Given the description of an element on the screen output the (x, y) to click on. 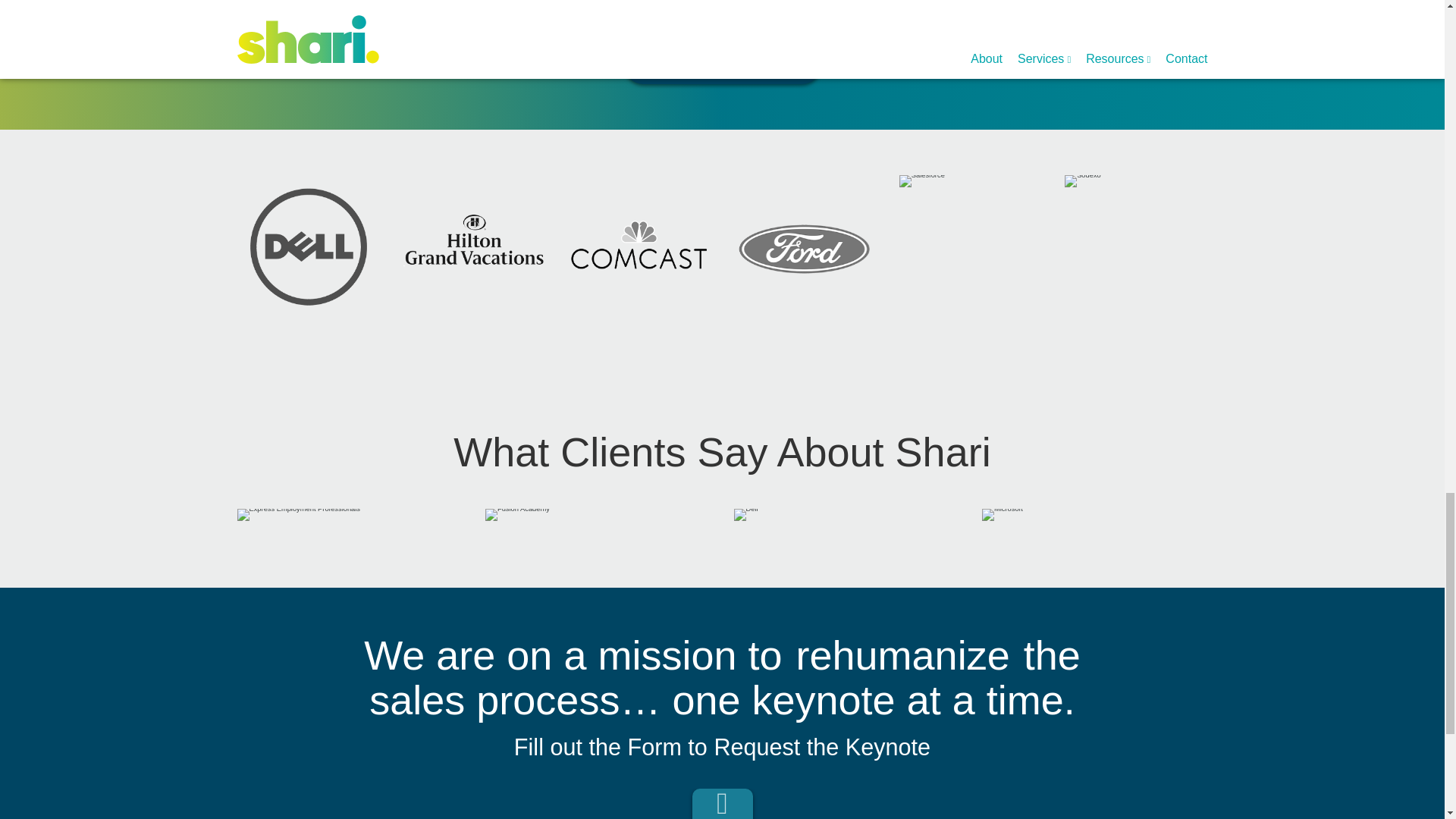
Fusion Academy (517, 514)
Dell (745, 514)
Express Employment Professionals (297, 514)
Dell (306, 246)
Sodexo (1082, 181)
Hilton Grand Vacations (473, 246)
Microsoft (1002, 514)
Comcast (638, 246)
Salesforce (921, 181)
Ford (804, 246)
